Given the description of an element on the screen output the (x, y) to click on. 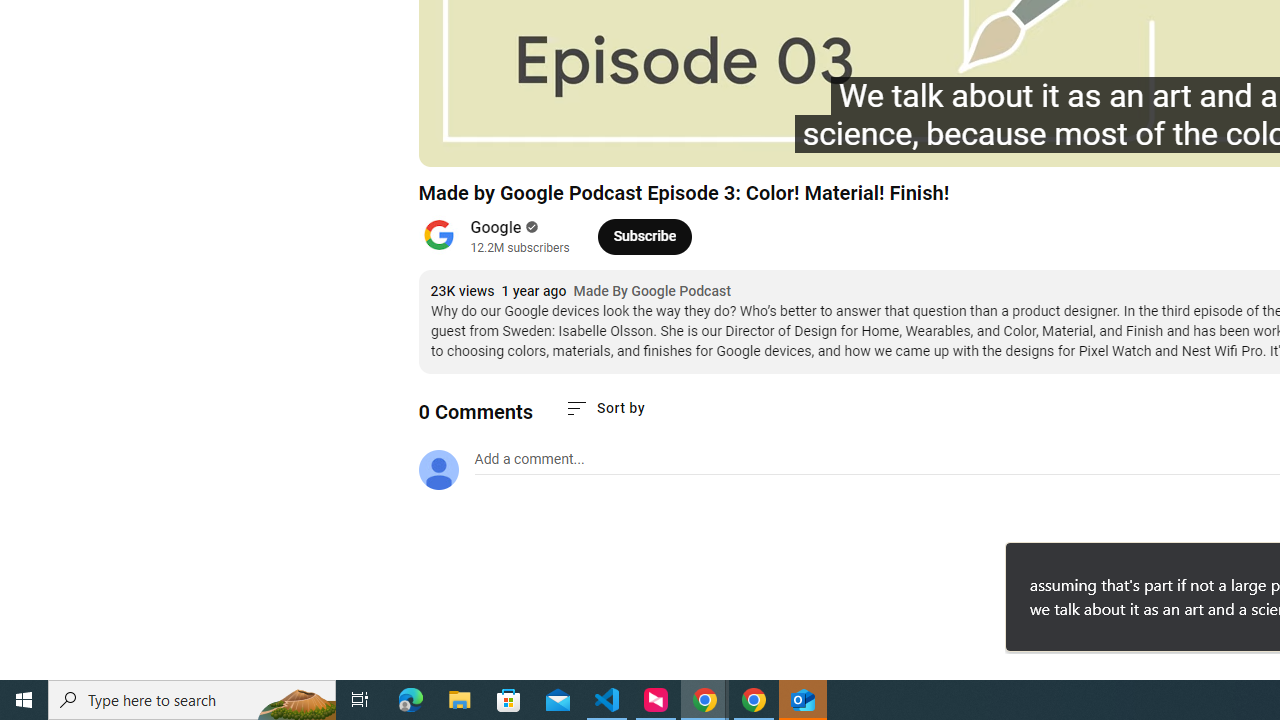
AutomationID: simplebox-placeholder (528, 459)
Search highlights icon opens search home window (295, 699)
Outlook (new) - 1 running window (803, 699)
Microsoft Edge (411, 699)
Mute (m) (548, 142)
Verified (530, 227)
Start (24, 699)
Default profile photo (438, 470)
Next (SHIFT+n) (500, 142)
Type here to search (191, 699)
Google Chrome - 3 running windows (704, 699)
Google Chrome - 1 running window (754, 699)
